Given the description of an element on the screen output the (x, y) to click on. 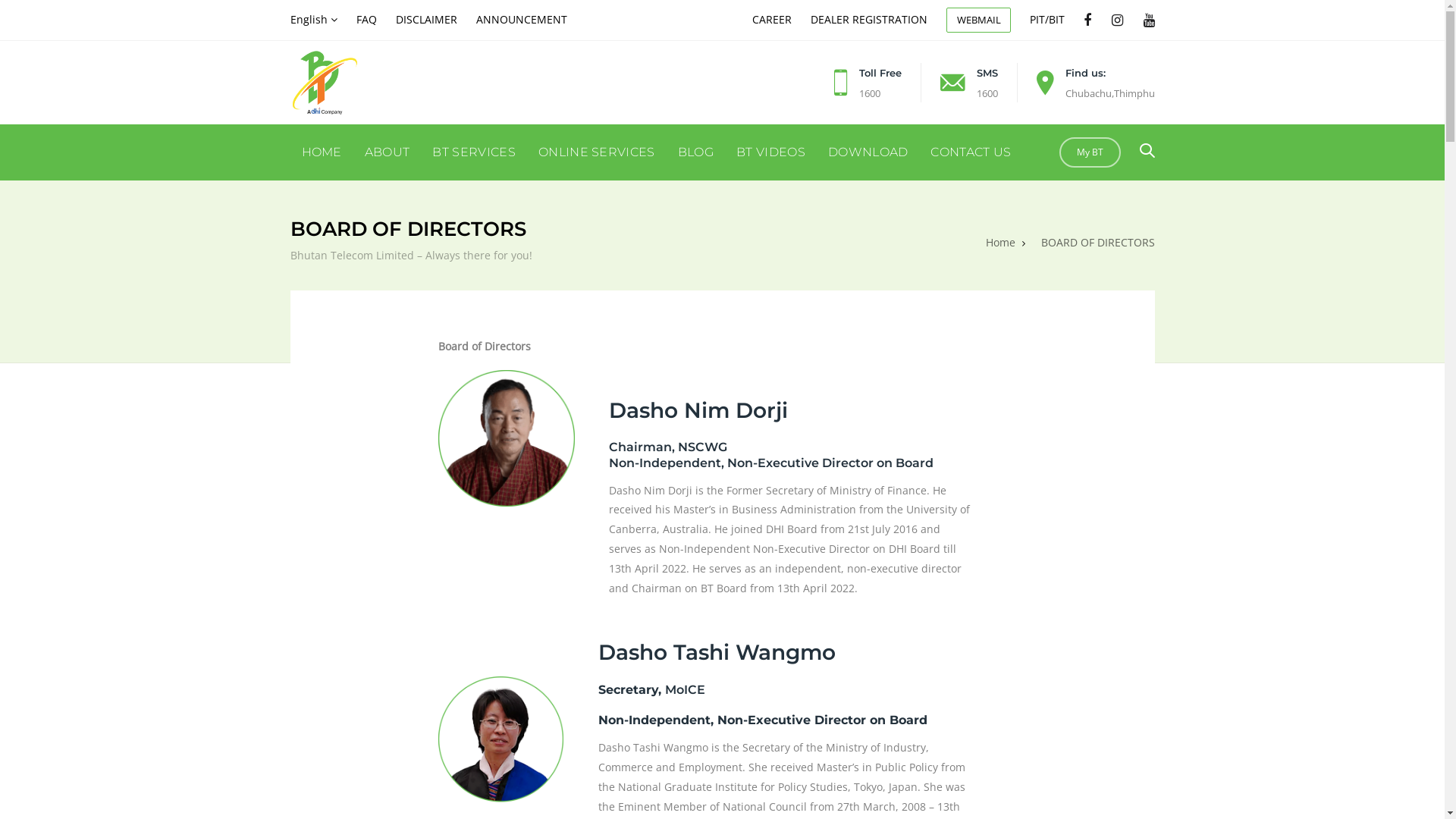
FAQ Element type: text (366, 19)
BLOG Element type: text (695, 152)
CAREER Element type: text (771, 19)
BOARD OF DIRECTORS Element type: text (1097, 242)
ABOUT Element type: text (387, 152)
WEBMAIL Element type: text (978, 19)
DOWNLOAD Element type: text (867, 152)
Home Element type: text (1000, 242)
My BT Element type: text (1089, 152)
DEALER REGISTRATION Element type: text (868, 19)
BT VIDEOS Element type: text (770, 152)
DISCLAIMER Element type: text (426, 19)
CONTACT US Element type: text (970, 152)
BT SERVICES Element type: text (473, 152)
PIT/BIT Element type: text (1046, 19)
HOME Element type: text (320, 152)
ANNOUNCEMENT Element type: text (521, 19)
ONLINE SERVICES Element type: text (596, 152)
